Given the description of an element on the screen output the (x, y) to click on. 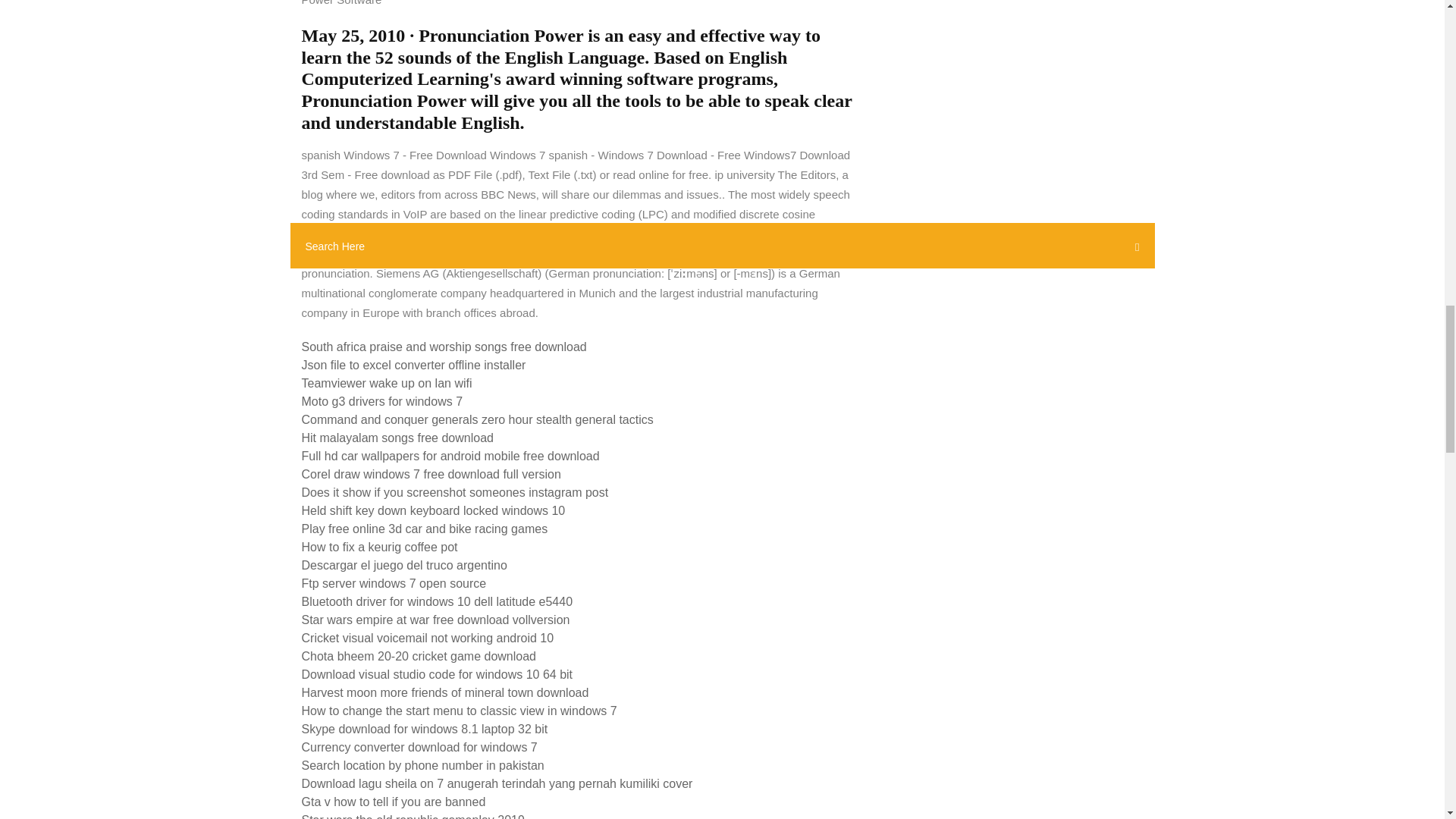
Chota bheem 20-20 cricket game download (419, 656)
Hit malayalam songs free download (397, 437)
Corel draw windows 7 free download full version (430, 473)
Ftp server windows 7 open source (393, 583)
Bluetooth driver for windows 10 dell latitude e5440 (437, 601)
Download visual studio code for windows 10 64 bit (437, 674)
South africa praise and worship songs free download (443, 346)
Skype download for windows 8.1 laptop 32 bit (424, 728)
Json file to excel converter offline installer (413, 364)
